Given the description of an element on the screen output the (x, y) to click on. 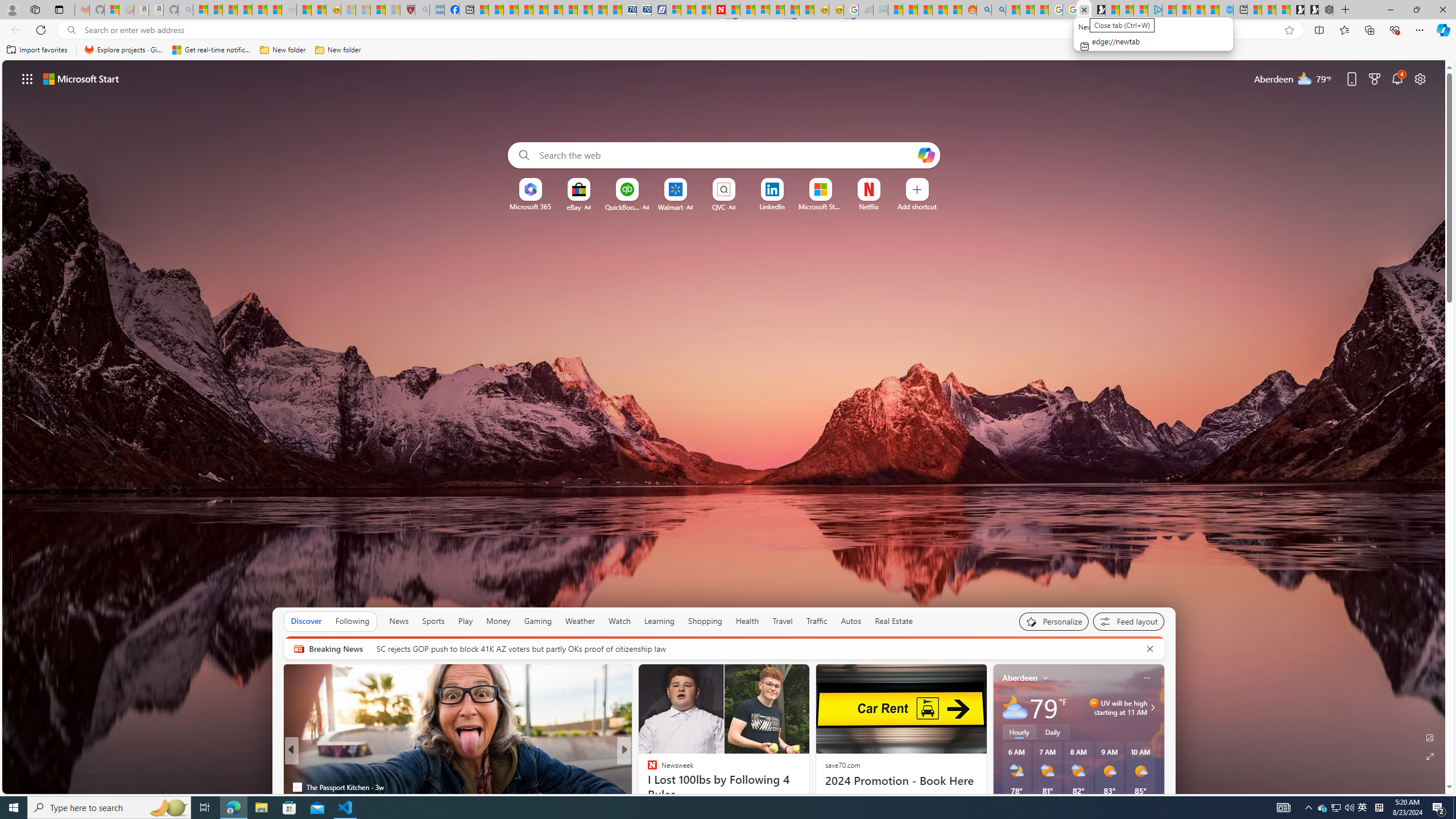
Import favorites (36, 49)
Real Estate (893, 621)
UV will be high starting at 11 AM (1150, 707)
Open Copilot (925, 155)
Traffic (816, 621)
Autos (851, 621)
save70.com (842, 764)
Stocks - MSN (274, 9)
Netflix (869, 206)
Notifications (1397, 78)
Watch (619, 621)
